Given the description of an element on the screen output the (x, y) to click on. 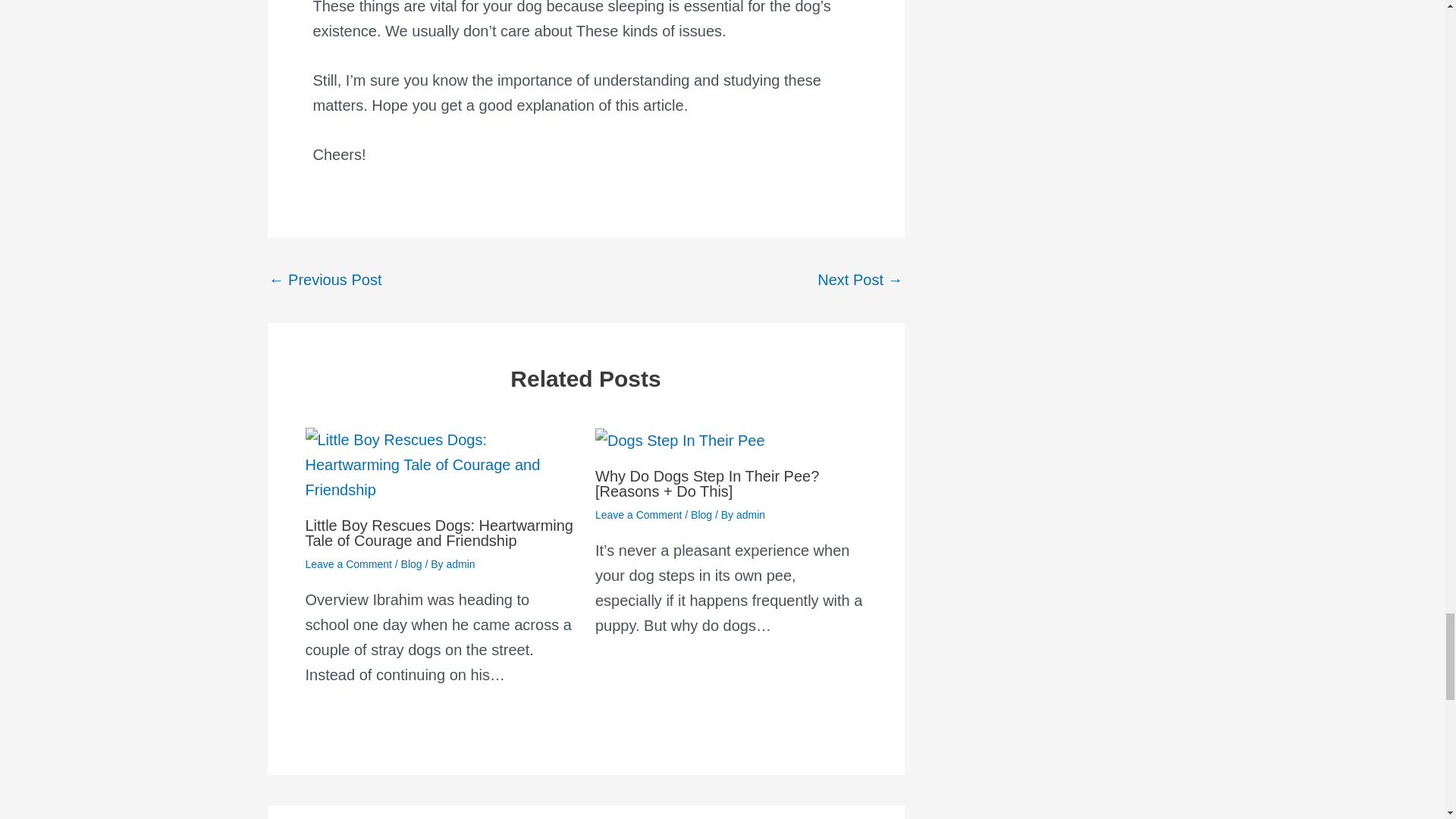
Blog (411, 563)
admin (461, 563)
Read This Before Leaving Your Dog With Your Parents (324, 278)
Leave a Comment (347, 563)
View all posts by admin (461, 563)
Leave a Comment (638, 514)
Blog (700, 514)
